Given the description of an element on the screen output the (x, y) to click on. 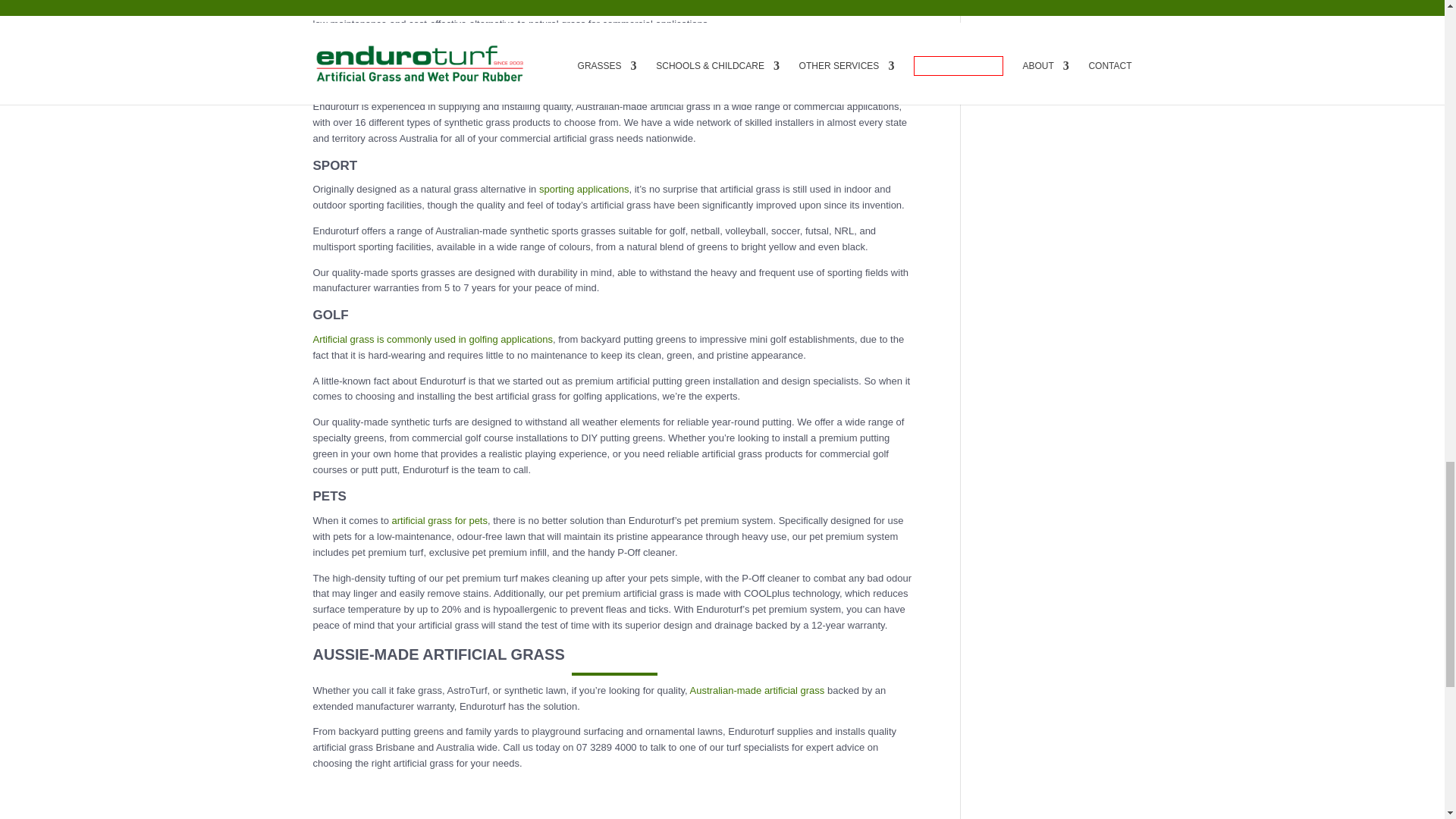
Australian-made artificial grass (757, 690)
artificial grass for pets (439, 520)
sporting applications (583, 188)
Artificial grass is commonly used in golfing applications (432, 338)
